Given the description of an element on the screen output the (x, y) to click on. 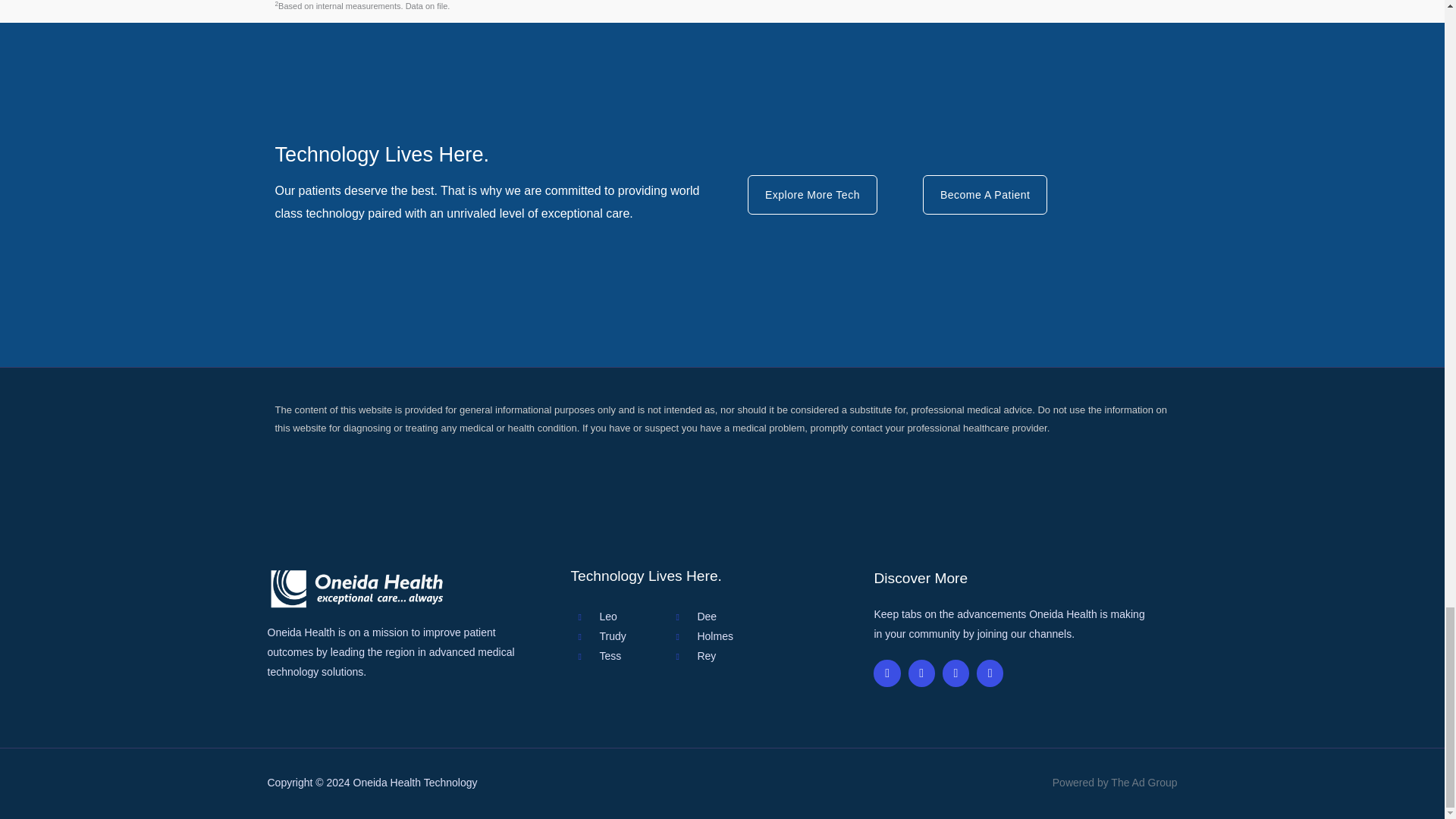
Rey (770, 656)
Holmes (770, 637)
Youtube (955, 673)
Become A Patient (985, 194)
Explore More Tech (812, 194)
Twitter (921, 673)
Dee (770, 617)
Facebook (886, 673)
Leo (619, 617)
Tess (619, 656)
Trudy (619, 637)
Linkedin (989, 673)
